Given the description of an element on the screen output the (x, y) to click on. 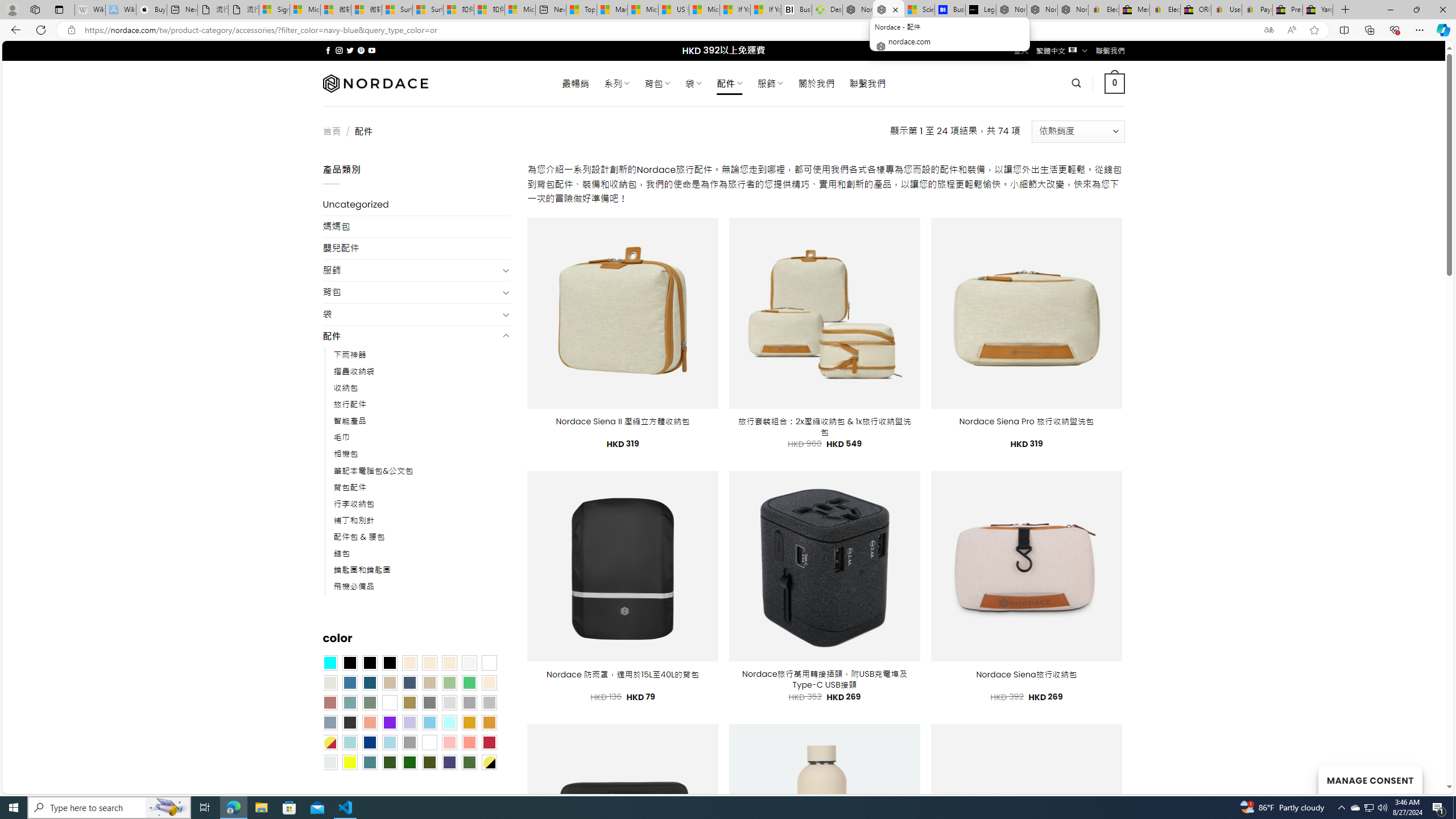
Follow on Instagram (338, 50)
